Given the description of an element on the screen output the (x, y) to click on. 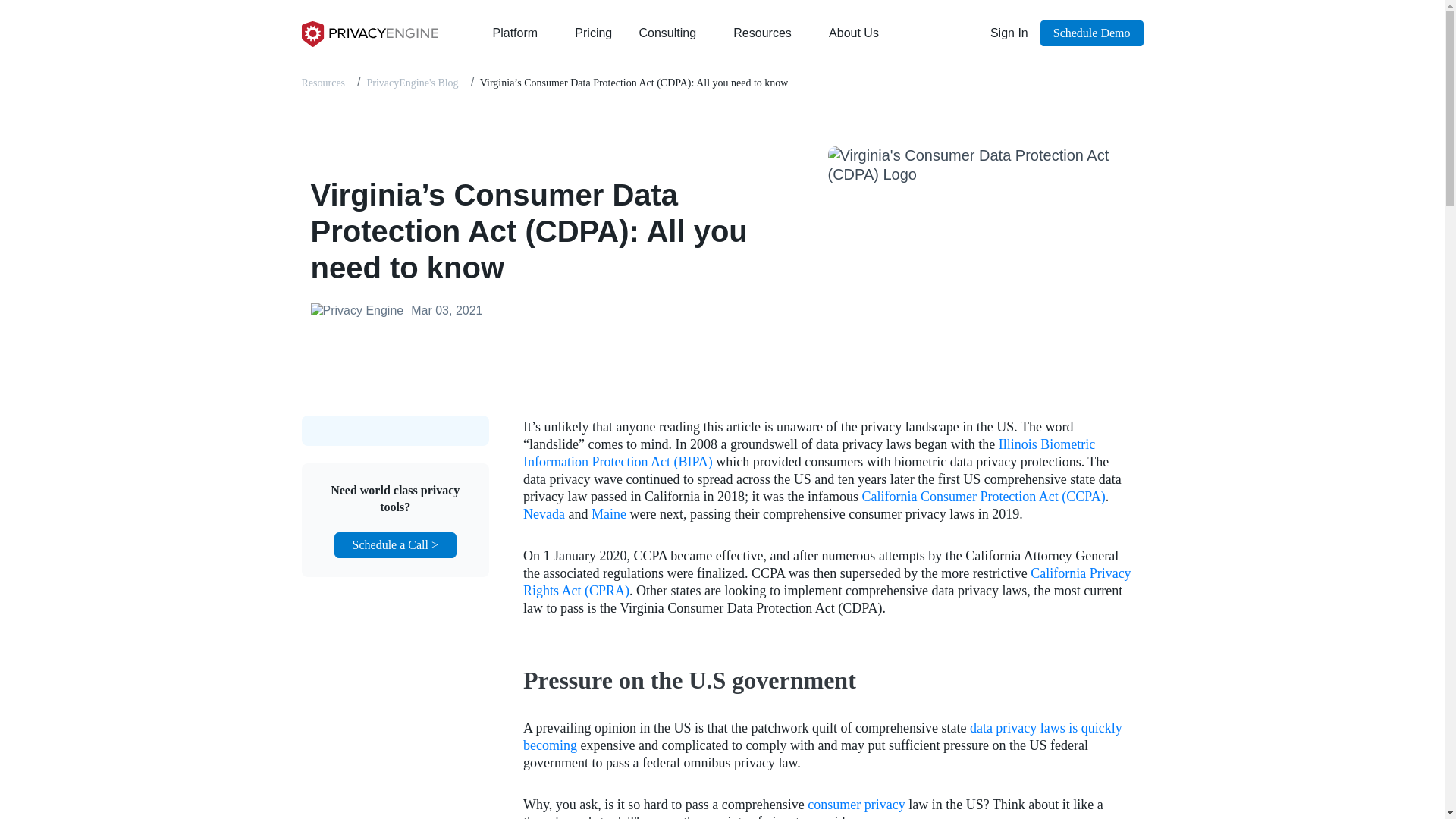
Data Privacy Management Platform (369, 33)
Consulting (672, 33)
Platform (520, 33)
Glossary (856, 804)
Becoming a Data Privacy Consultant: What You Need to Know (822, 736)
Resources (767, 33)
